Given the description of an element on the screen output the (x, y) to click on. 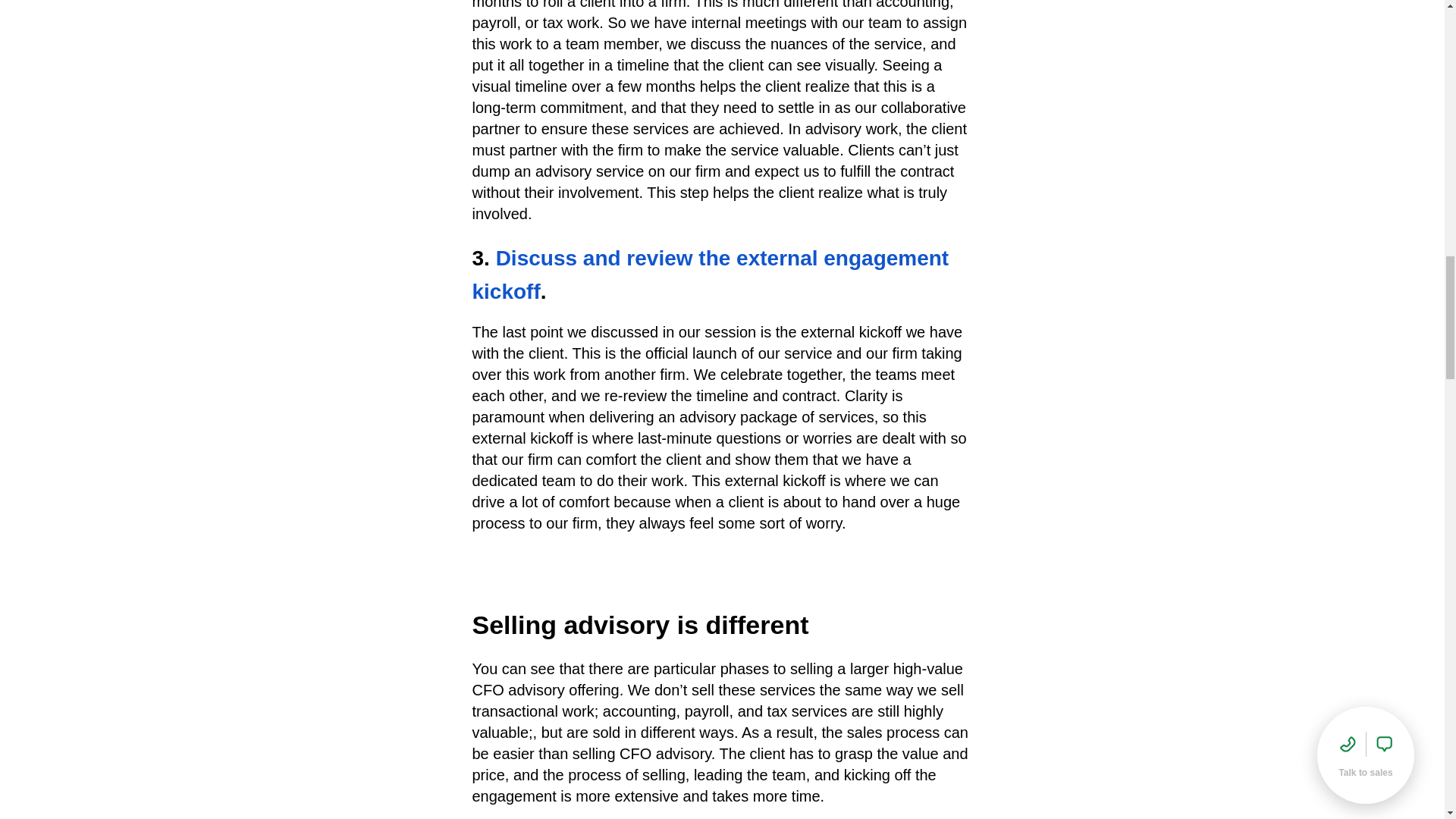
Discuss and review the external engagement kickoff (710, 274)
